Given the description of an element on the screen output the (x, y) to click on. 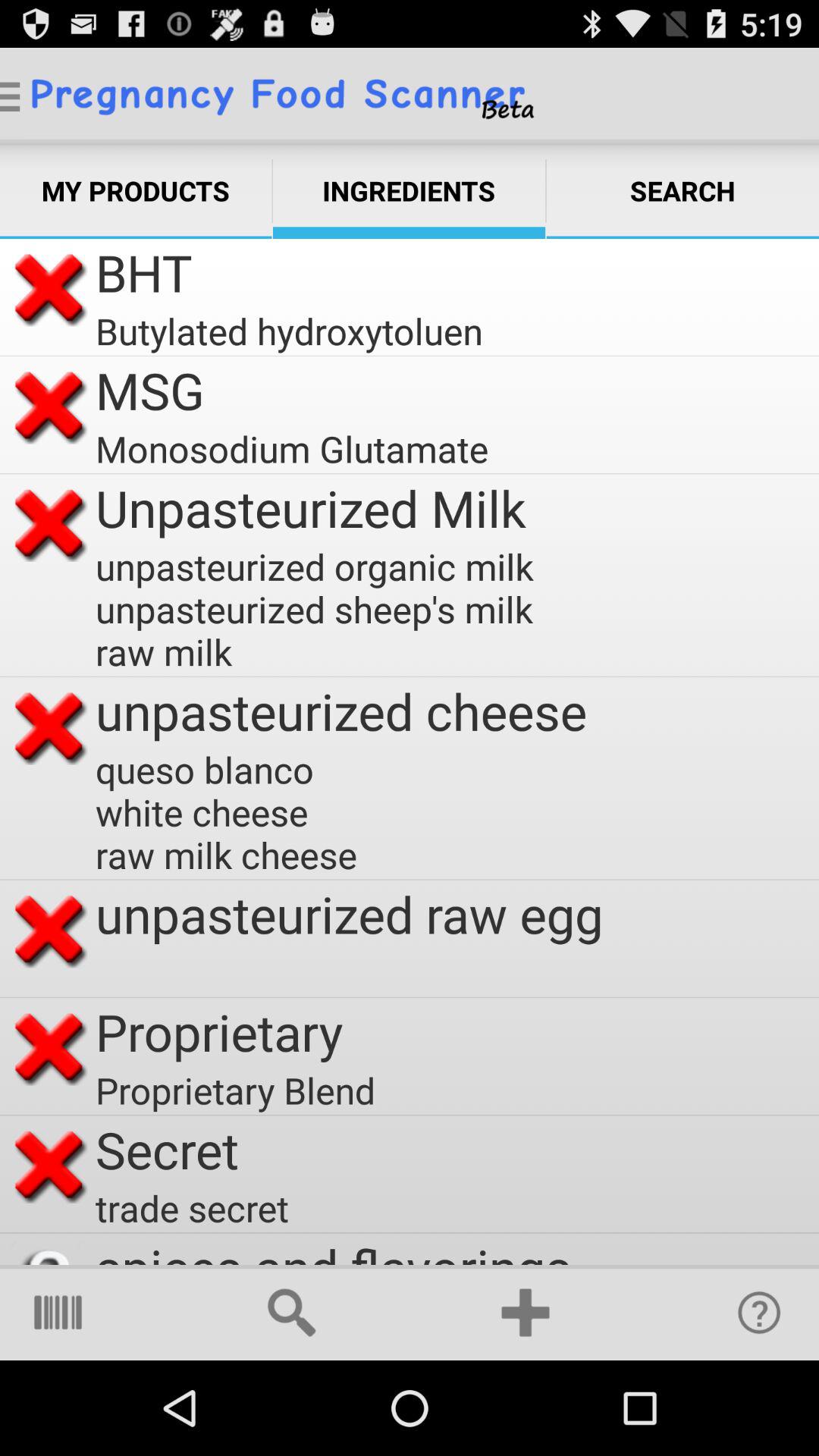
tap bht (143, 272)
